Given the description of an element on the screen output the (x, y) to click on. 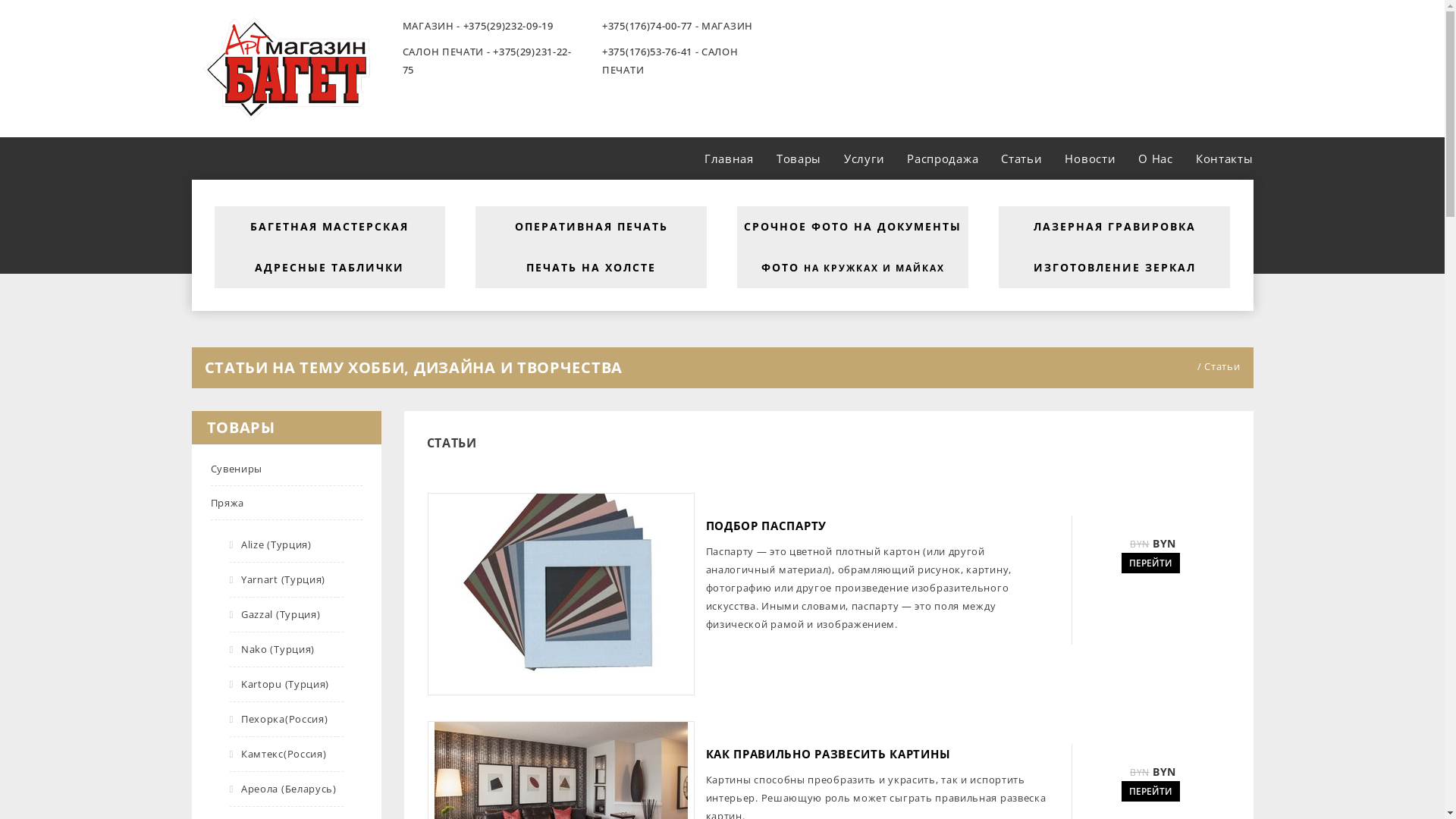
List Element type: hover (436, 467)
+375(176)74-00-77 Element type: text (647, 25)
+375(29)232-09-19 Element type: text (508, 25)
+375(176)53-76-41 Element type: text (647, 51)
+375(29)231-22-75 Element type: text (486, 60)
